Given the description of an element on the screen output the (x, y) to click on. 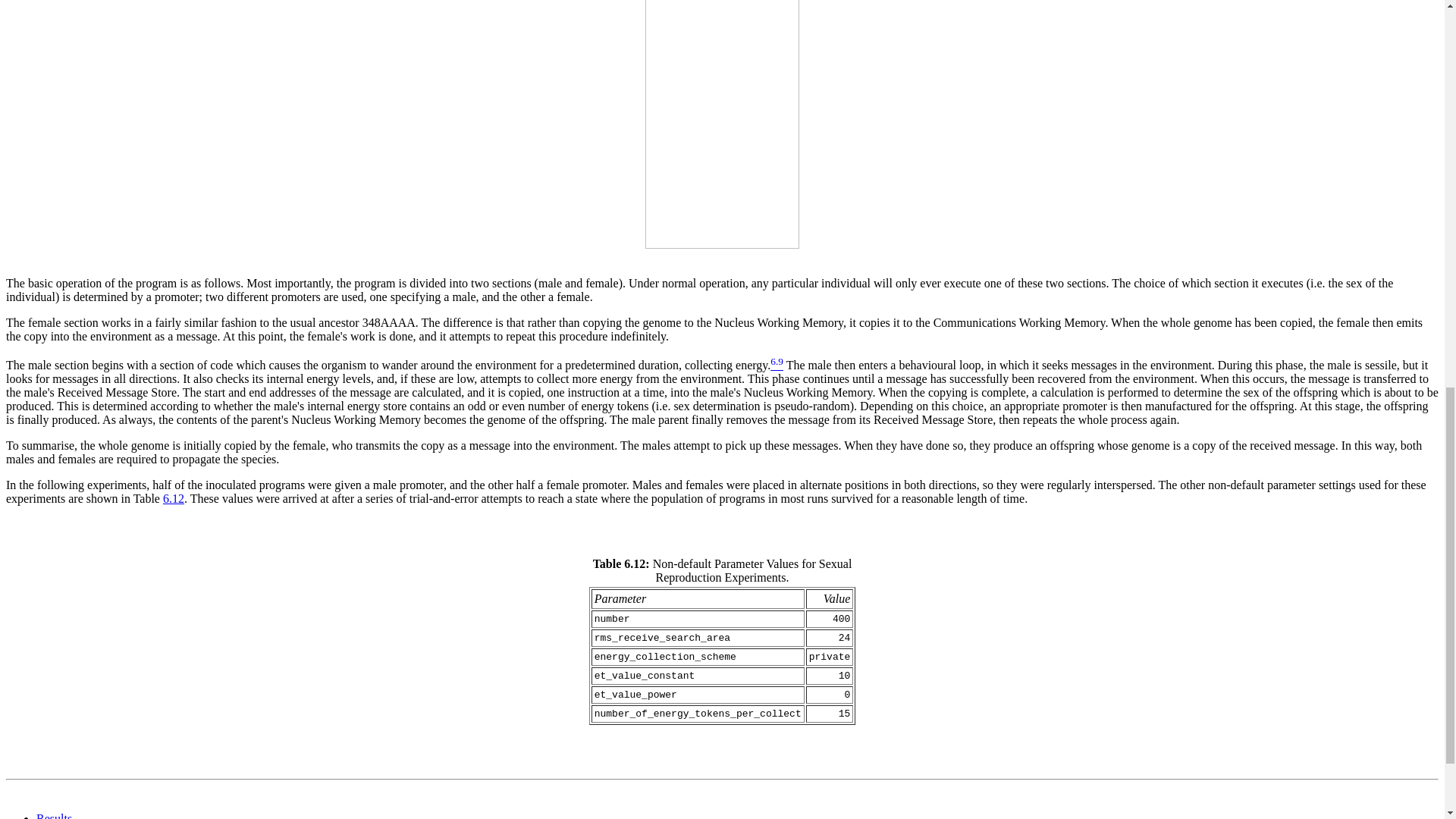
Results (53, 815)
6.12 (173, 498)
6.9 (776, 364)
